Given the description of an element on the screen output the (x, y) to click on. 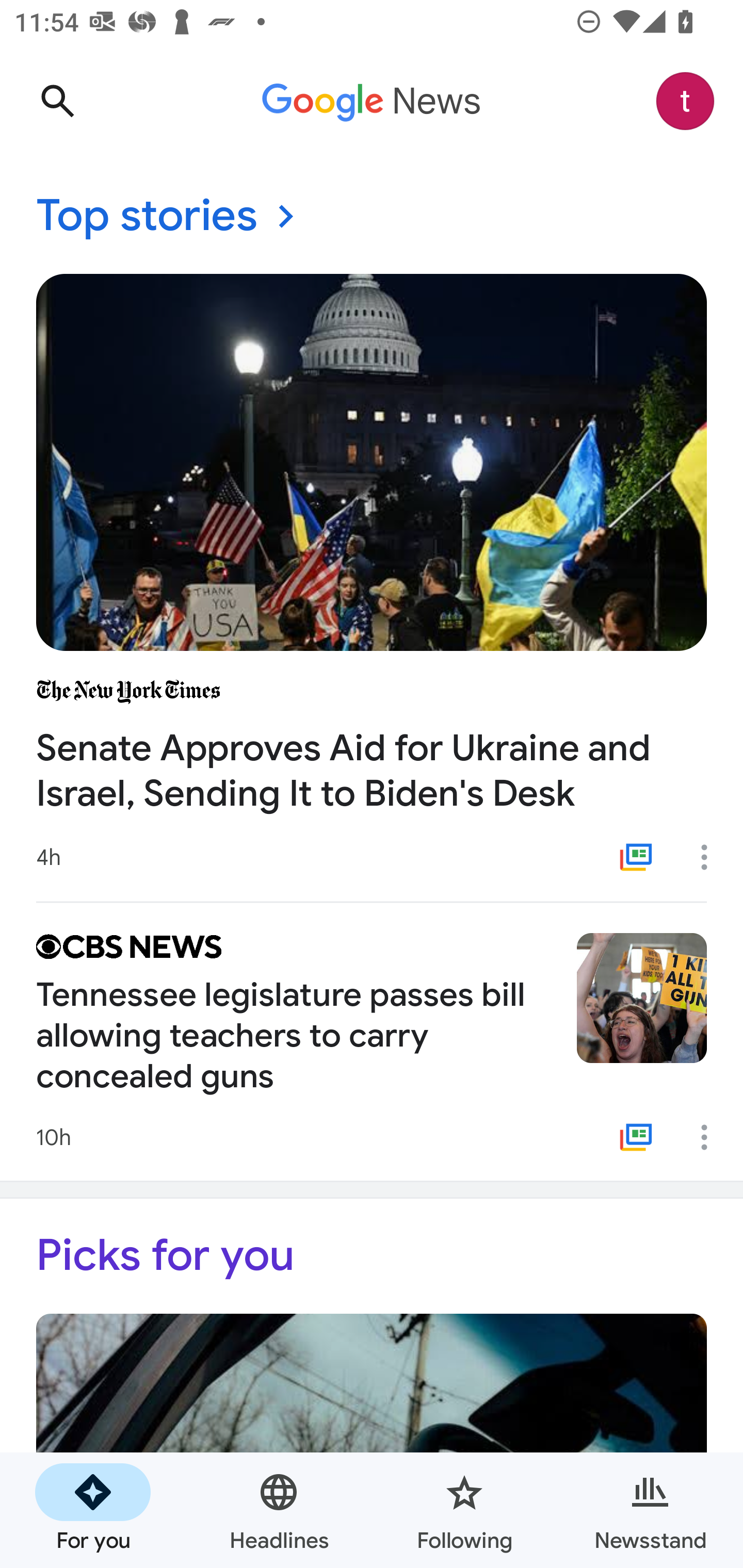
Search (57, 100)
Top stories (371, 216)
More options (711, 856)
More options (711, 1137)
For you (92, 1509)
Headlines (278, 1509)
Following (464, 1509)
Newsstand (650, 1509)
